Given the description of an element on the screen output the (x, y) to click on. 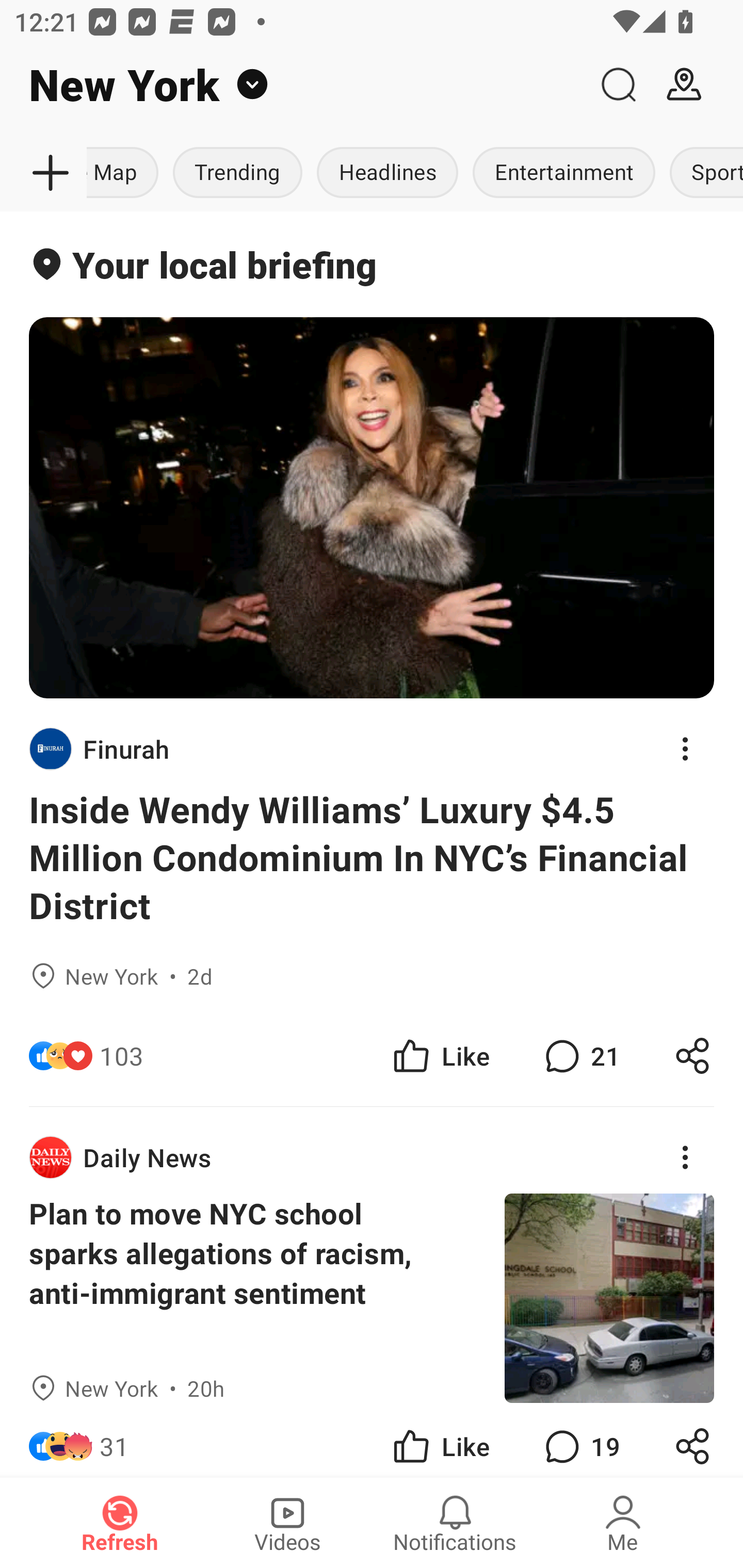
New York (292, 84)
Crime Map (125, 172)
Trending (237, 172)
Headlines (387, 172)
Entertainment (563, 172)
103 (121, 1055)
Like (439, 1055)
21 (579, 1055)
31 (114, 1440)
Like (439, 1440)
19 (579, 1440)
Videos (287, 1522)
Notifications (455, 1522)
Me (622, 1522)
